Given the description of an element on the screen output the (x, y) to click on. 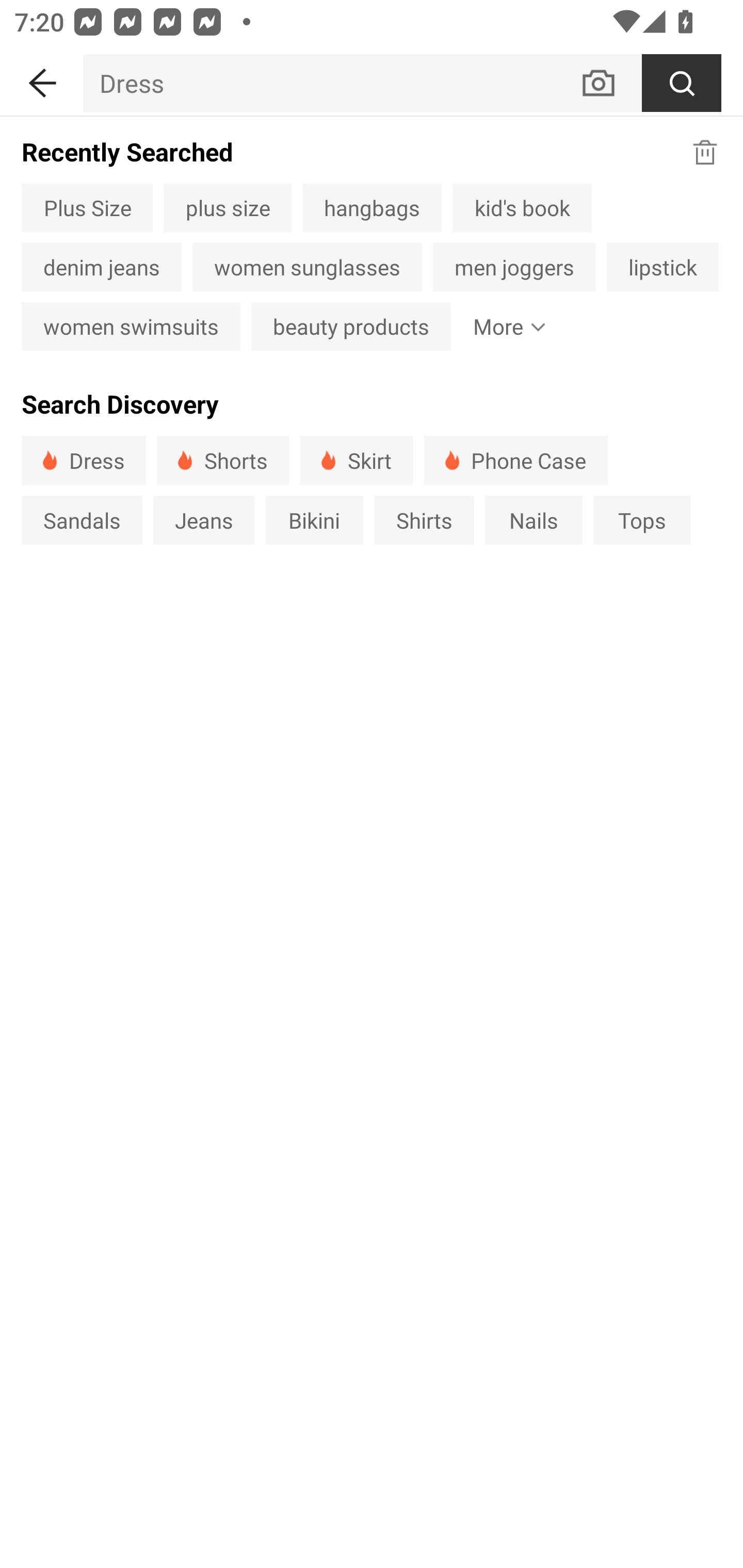
BACK (41, 79)
Dress (330, 82)
Plus Size (87, 207)
plus size (227, 207)
hangbags (371, 207)
kid's book (522, 207)
denim jeans (101, 267)
women sunglasses (307, 267)
men joggers (514, 267)
lipstick (662, 267)
women swimsuits (130, 326)
beauty products (351, 326)
More Show More (505, 326)
Dress (83, 459)
Shorts (222, 459)
Skirt (356, 459)
Phone Case (515, 459)
Sandals (81, 519)
Jeans (203, 519)
Bikini (314, 519)
Shirts (423, 519)
Nails (533, 519)
Tops (641, 519)
